Given the description of an element on the screen output the (x, y) to click on. 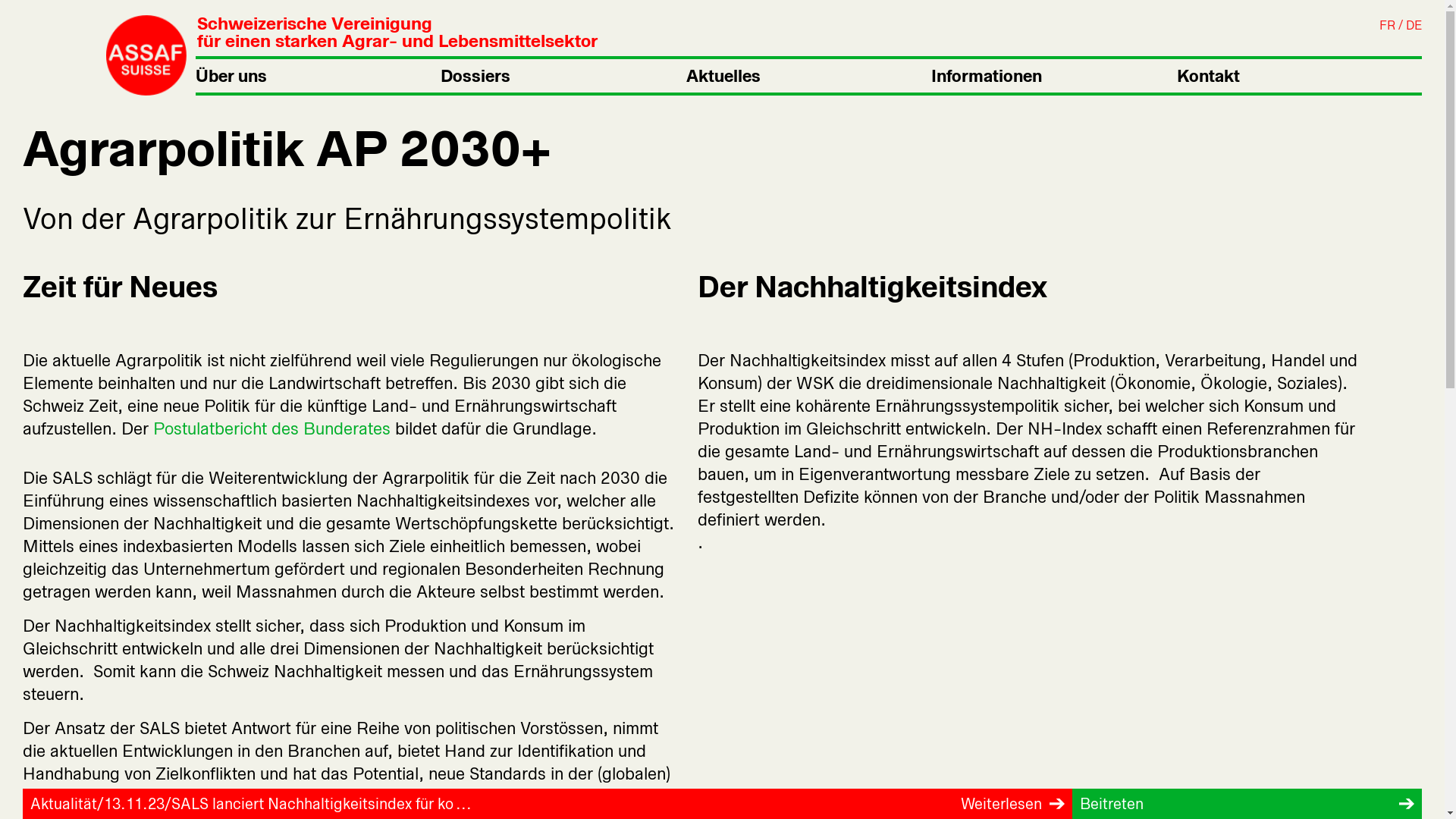
Aktuelles Element type: text (808, 75)
Dossiers Element type: text (562, 75)
DE Element type: text (1413, 24)
Informationen Element type: text (1053, 75)
FR Element type: text (1387, 24)
Kontakt Element type: text (1298, 75)
Postulatbericht des Bunderates Element type: text (271, 428)
